Given the description of an element on the screen output the (x, y) to click on. 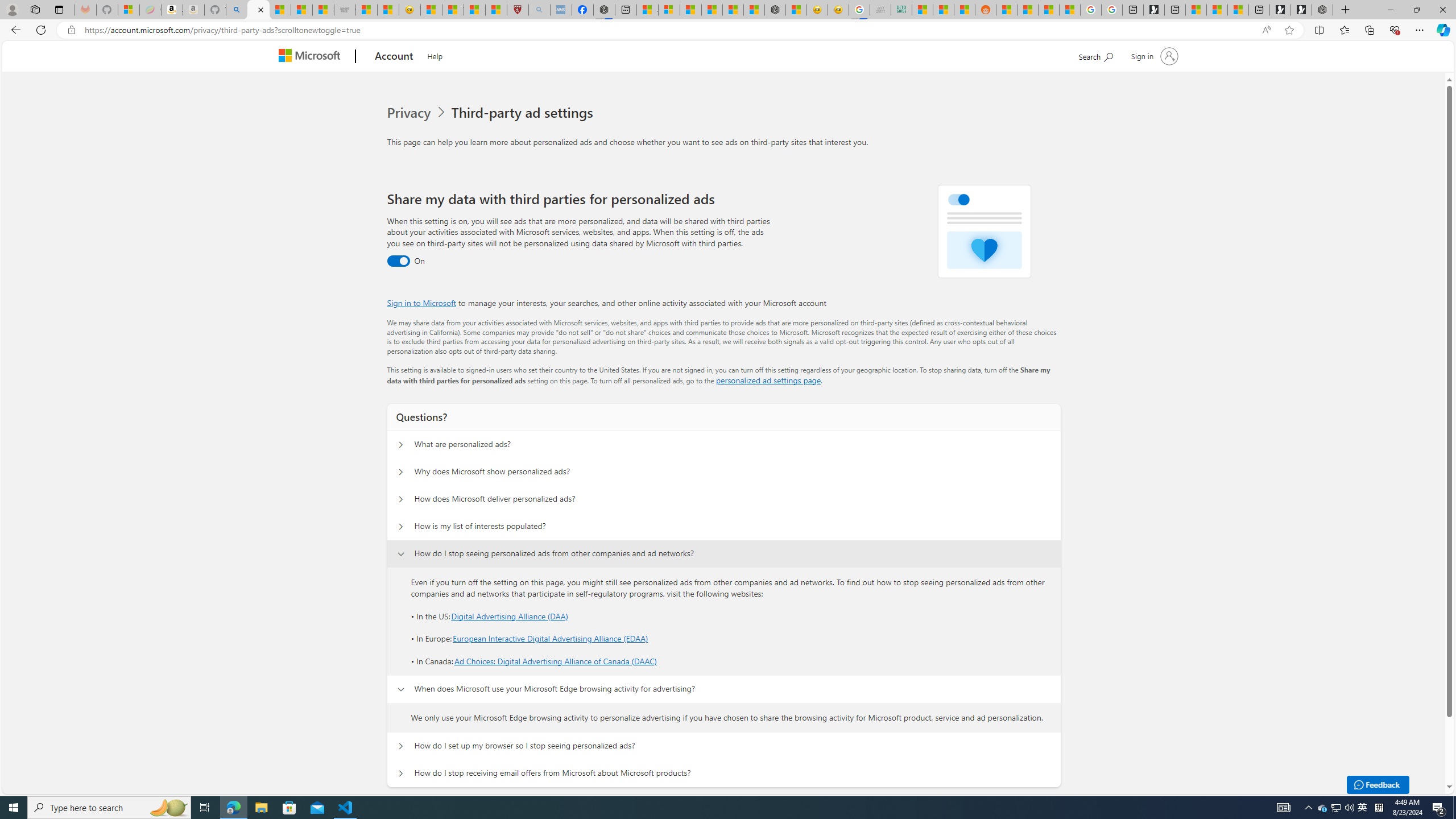
Recipes - MSN (431, 9)
Help (435, 54)
Questions? How does Microsoft deliver personalized ads? (401, 499)
14 Common Myths Debunked By Scientific Facts (732, 9)
Play Free Online Games | Games from Microsoft Start (1300, 9)
